Given the description of an element on the screen output the (x, y) to click on. 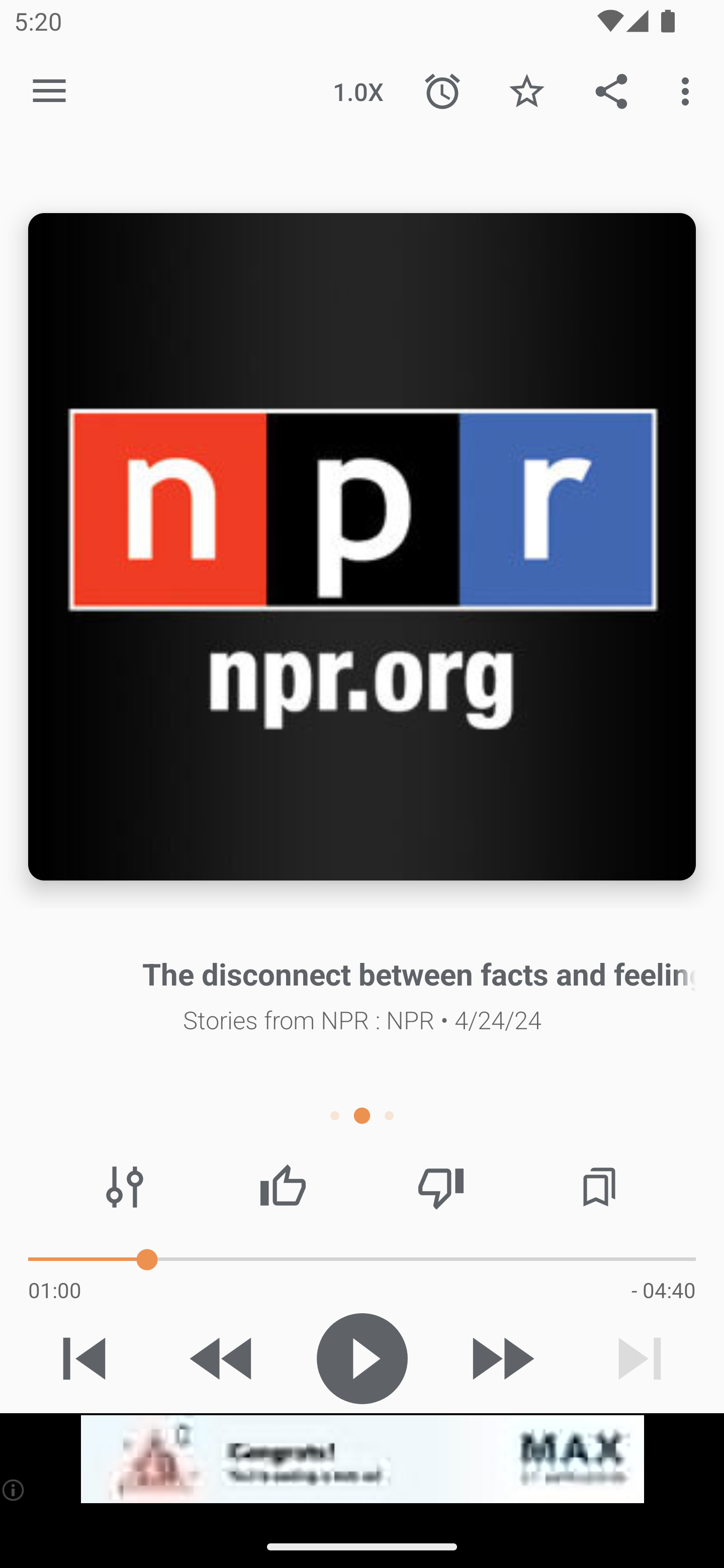
Open navigation sidebar (49, 91)
1.0X (357, 90)
Sleep Timer (442, 90)
Favorite (526, 90)
Share (611, 90)
More options (688, 90)
Episode description (361, 547)
Audio effects (124, 1186)
Thumbs up (283, 1186)
Thumbs down (440, 1186)
Chapters / Bookmarks (598, 1186)
- 04:40 (663, 1289)
Previous track (84, 1358)
Skip 15s backward (222, 1358)
Play / Pause (362, 1358)
Skip 30s forward (500, 1358)
Next track (639, 1358)
app-monetization (362, 1459)
(i) (14, 1489)
